Given the description of an element on the screen output the (x, y) to click on. 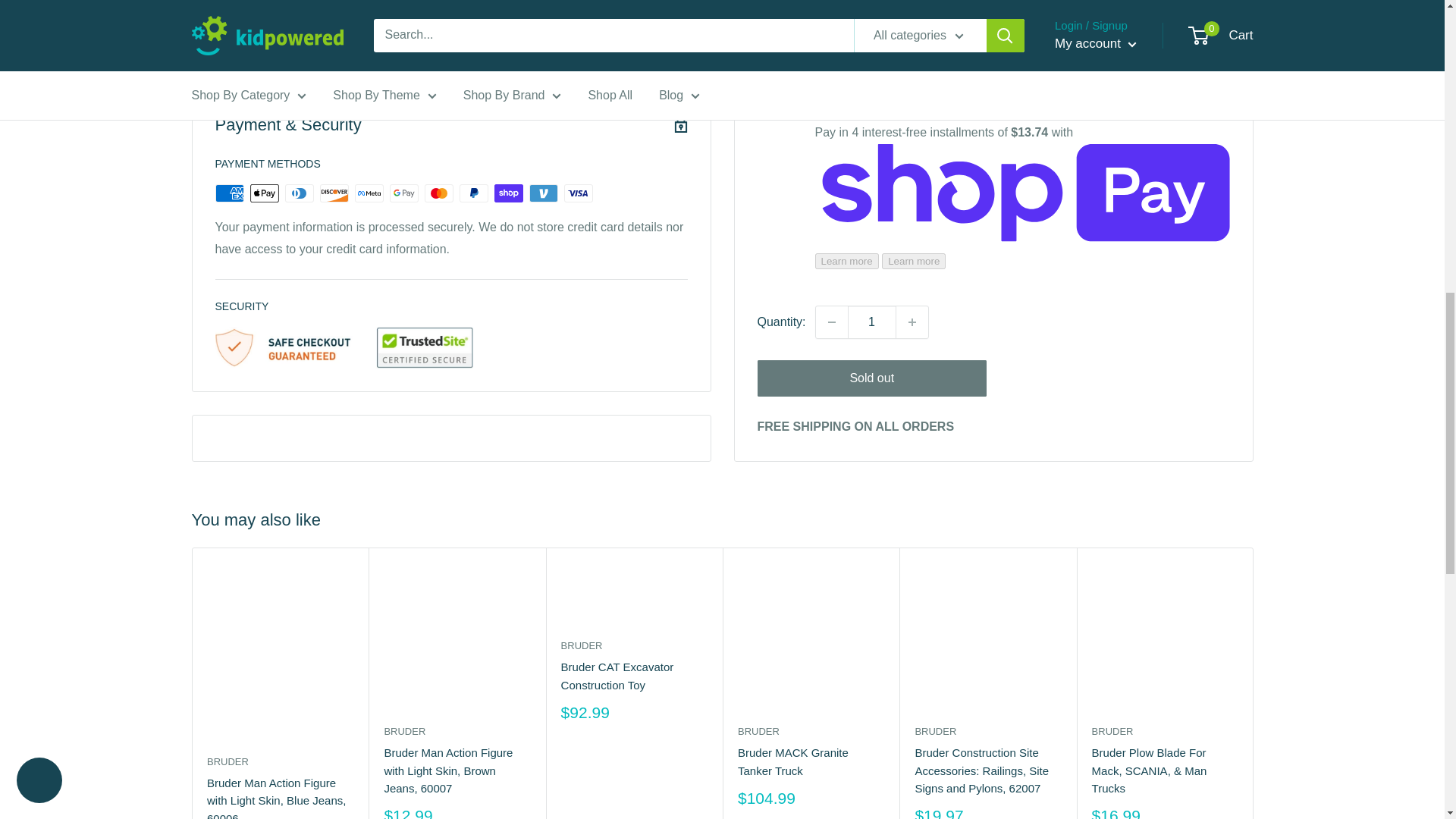
1 (871, 17)
Decrease quantity by 1 (831, 17)
Increase quantity by 1 (912, 17)
